Given the description of an element on the screen output the (x, y) to click on. 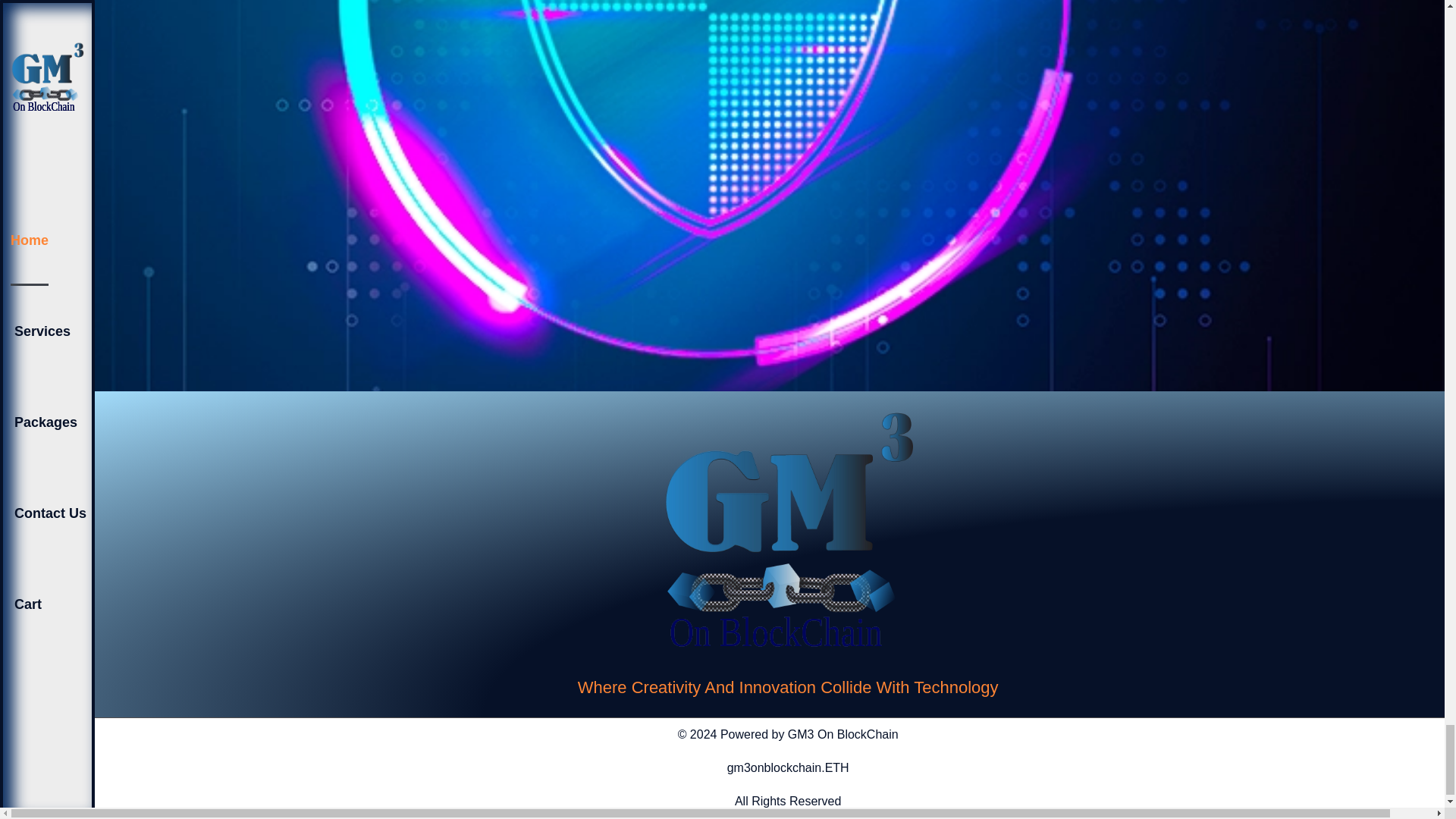
All Rights Reserved (788, 800)
gm3onblockchain.ETH (787, 767)
